Given the description of an element on the screen output the (x, y) to click on. 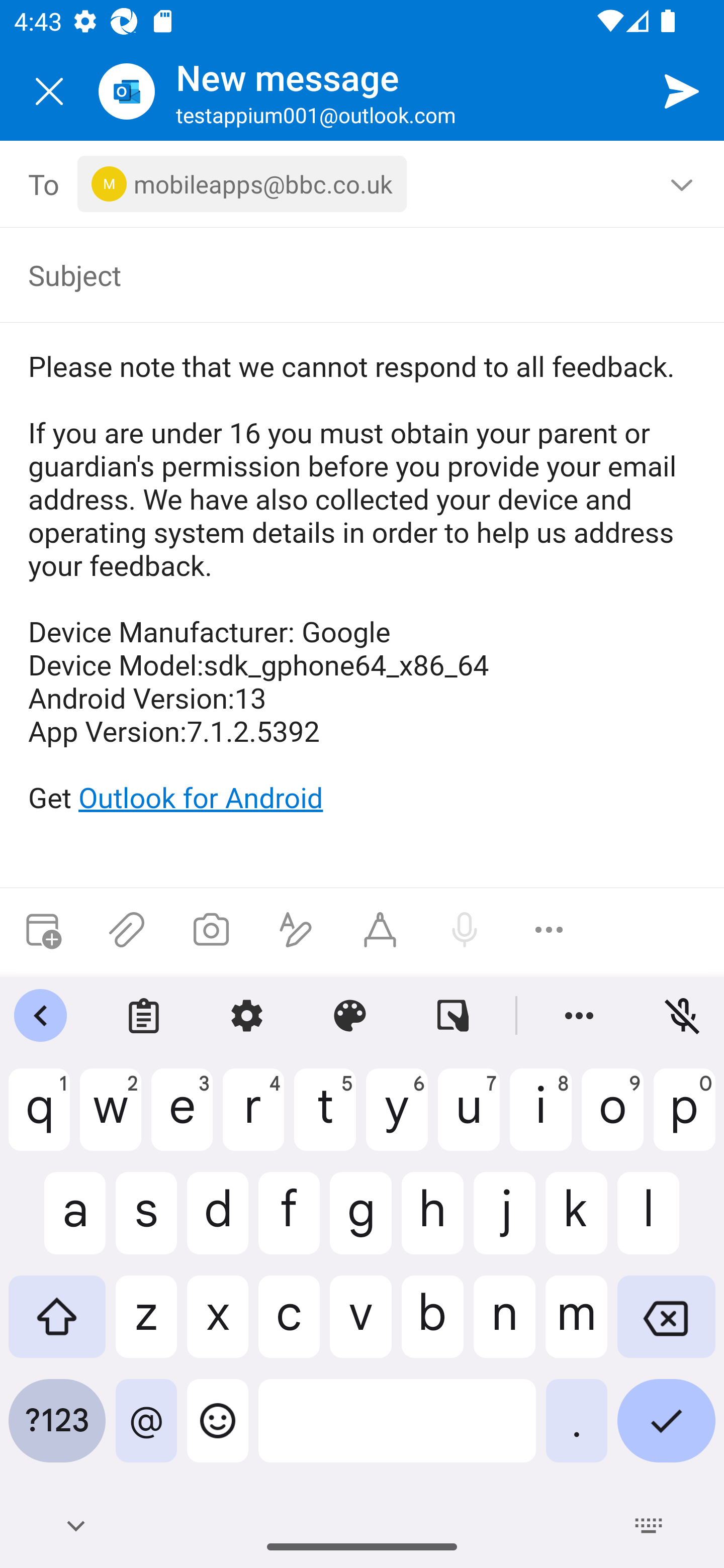
Close (49, 91)
Send (681, 90)
To, 1 recipient <mobileapps@bbc.co.uk> (362, 184)
Subject (347, 274)
Attach meeting (42, 929)
Attach files (126, 929)
Take a photo (210, 929)
Show formatting options (295, 929)
Start Ink compose (380, 929)
More options (548, 929)
